Given the description of an element on the screen output the (x, y) to click on. 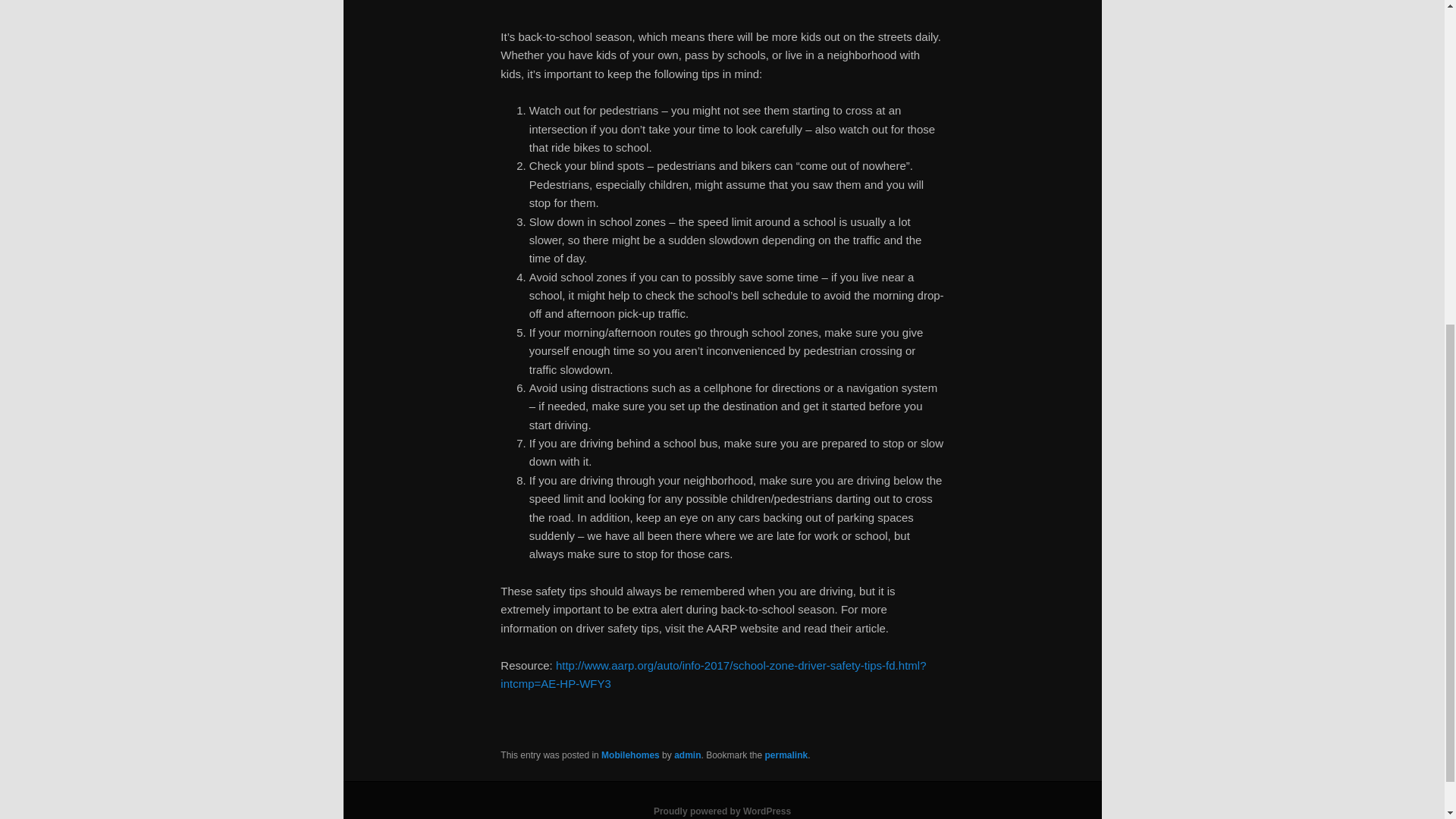
permalink (786, 755)
Mobilehomes (630, 755)
Permalink to Driving Tips for Back-to-School Season (786, 755)
Semantic Personal Publishing Platform (721, 810)
admin (687, 755)
Proudly powered by WordPress (721, 810)
